Given the description of an element on the screen output the (x, y) to click on. 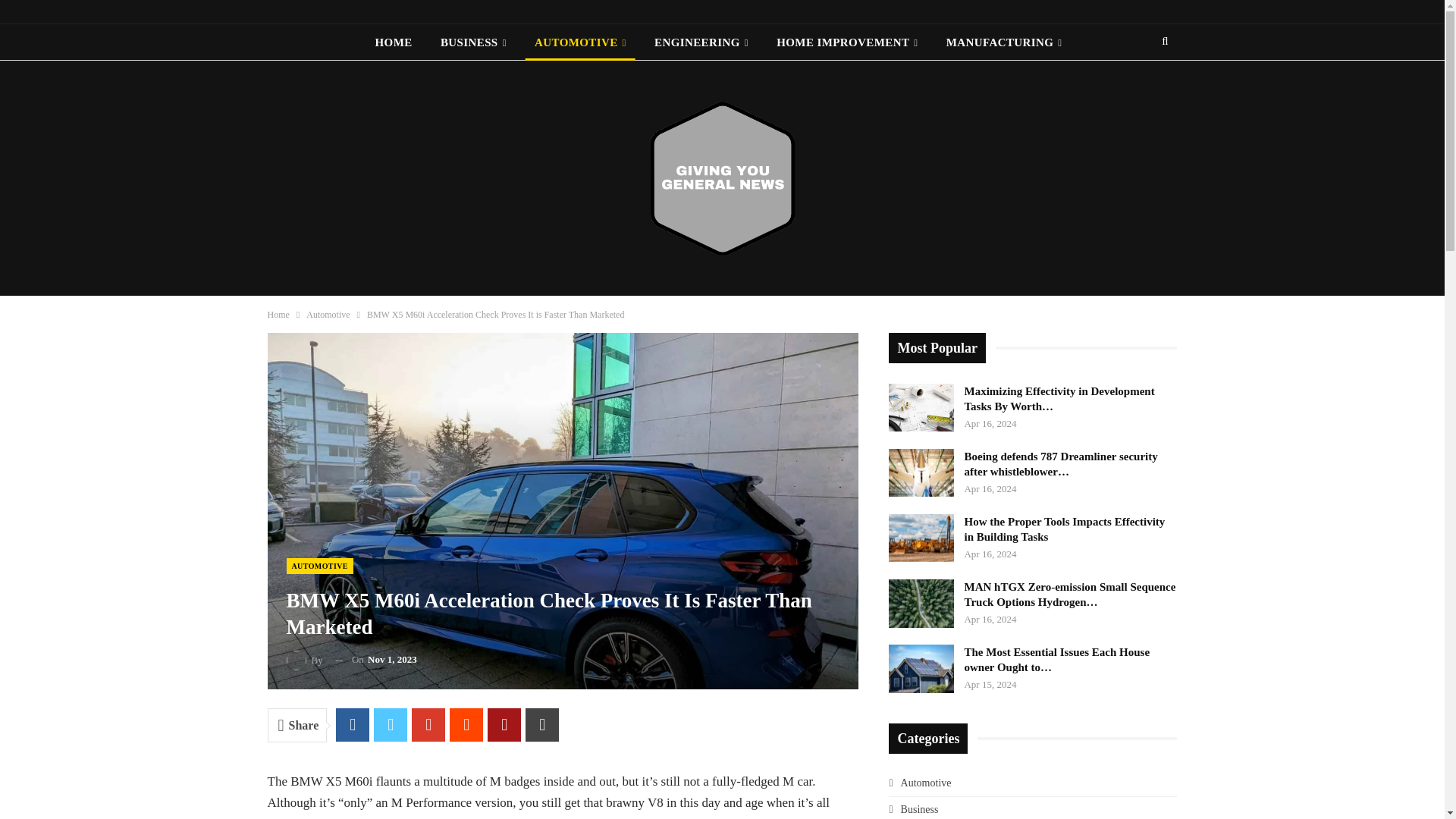
ENGINEERING (701, 42)
HOME (394, 42)
BUSINESS (472, 42)
AUTOMOTIVE (579, 42)
